Given the description of an element on the screen output the (x, y) to click on. 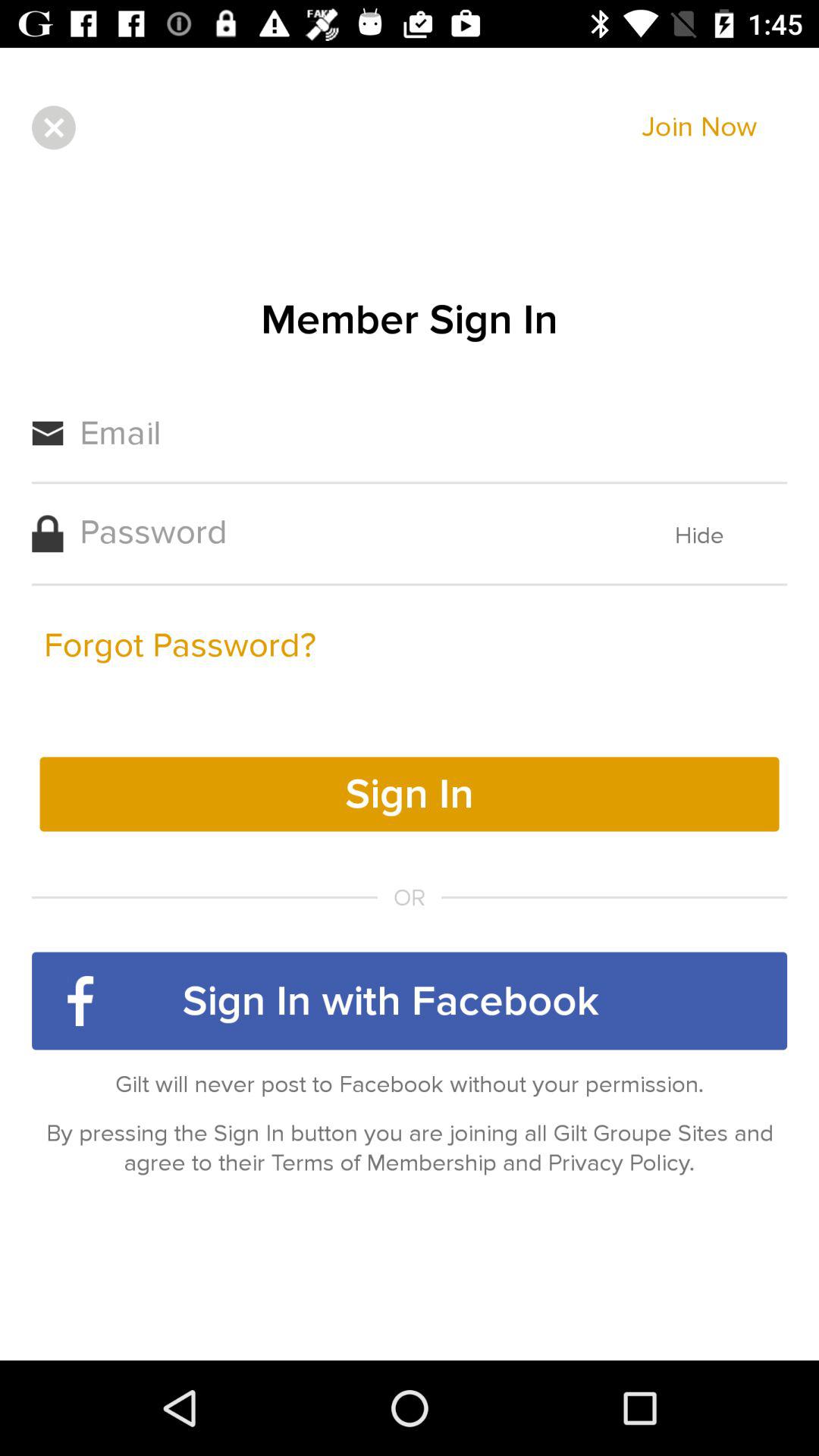
turn on icon next to the hide item (179, 645)
